Given the description of an element on the screen output the (x, y) to click on. 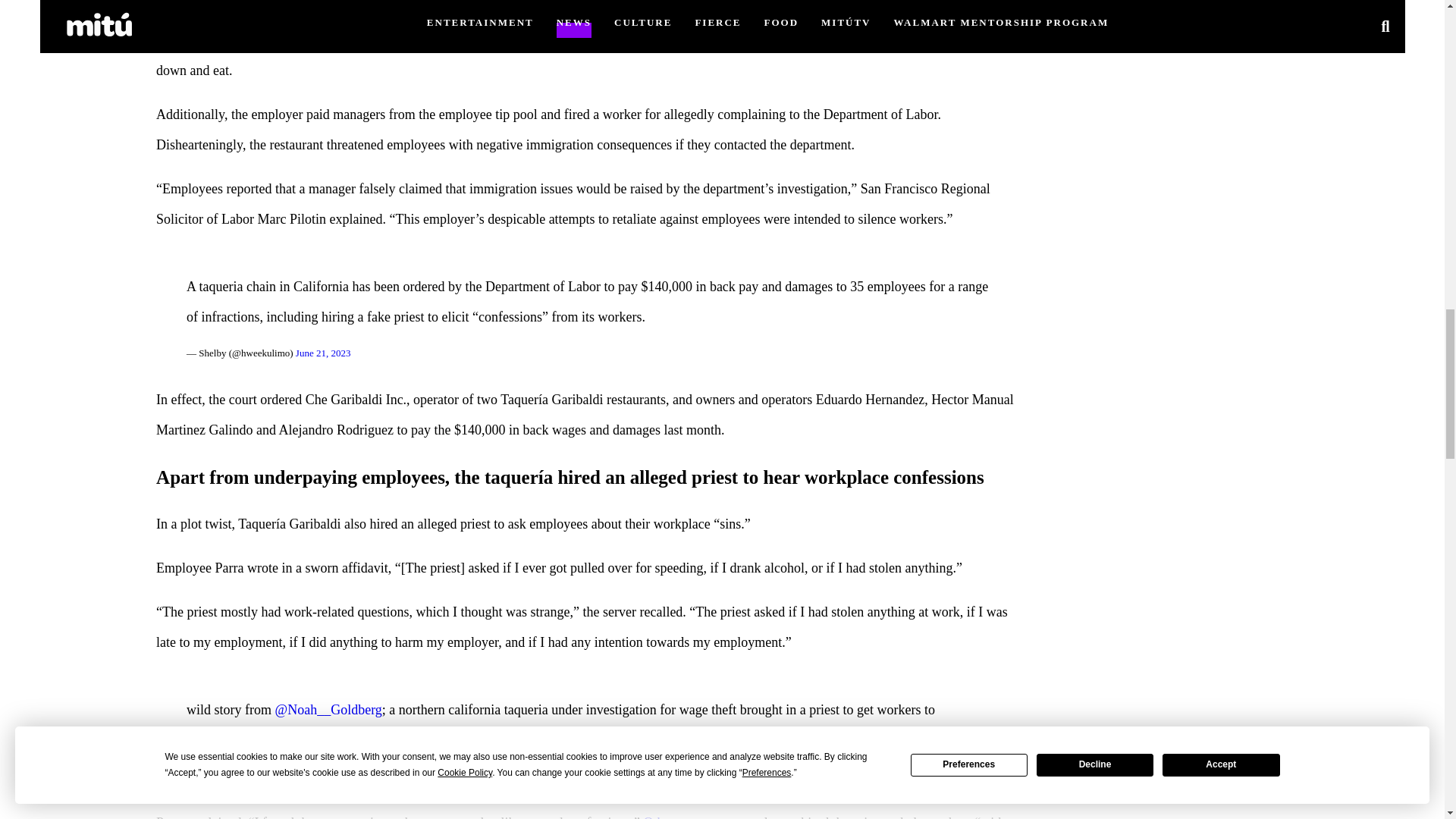
Other reports (678, 816)
June 13, 2023 (347, 776)
June 21, 2023 (322, 352)
